Given the description of an element on the screen output the (x, y) to click on. 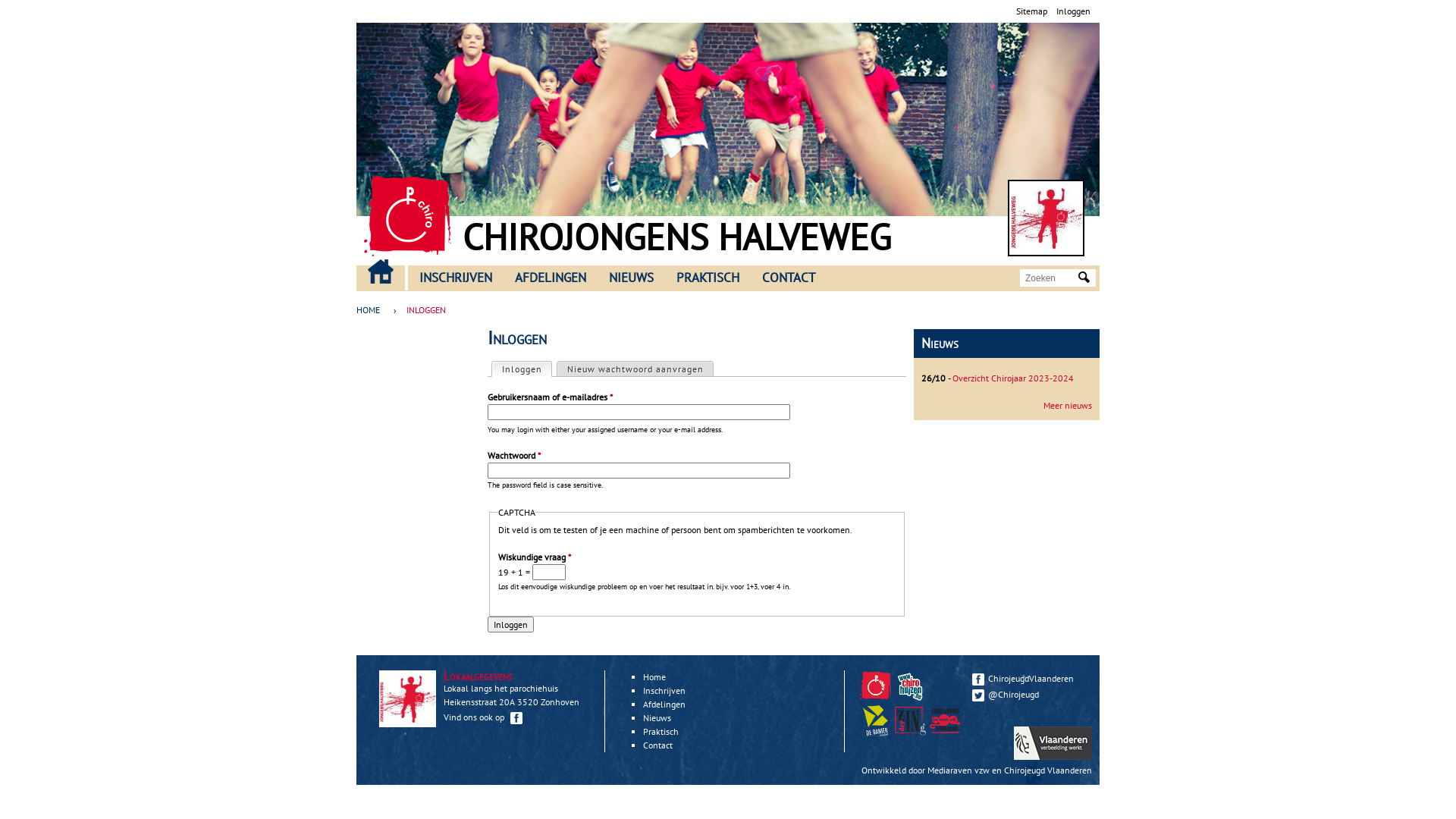
Contact Element type: text (657, 744)
Home Element type: hover (1045, 217)
Meer nieuws Element type: text (1067, 405)
CONTACT Element type: text (788, 278)
De Banier Element type: hover (876, 732)
De Banier Element type: hover (875, 720)
CHIROJONGENS HALVEWEG Element type: text (676, 236)
Zindering Element type: hover (946, 732)
@Chirojeugd Element type: text (1028, 694)
Chirojeugd Vlaanderen Element type: text (1048, 769)
NIEUWS Element type: text (631, 278)
ChirojeugdVlaanderen Element type: text (1028, 678)
Nieuw wachtwoord aanvragen Element type: text (634, 368)
Home Element type: hover (407, 215)
HOME Element type: text (371, 309)
Home Element type: text (654, 676)
Chirohuizen Element type: hover (911, 697)
HOME Element type: text (380, 271)
INSCHRIJVEN Element type: text (455, 278)
Twitter Element type: hover (978, 695)
Facebook Element type: hover (978, 679)
PRAKTISCH Element type: text (707, 278)
Nieuws Element type: text (657, 717)
Zindering Element type: hover (909, 720)
Afdelingen Element type: text (664, 703)
Praktisch Element type: text (660, 731)
Chirohuizen Element type: hover (909, 685)
Overzicht Chirojaar 2023-2024 Element type: text (1012, 377)
Chirojeugd Vlaanderen Element type: hover (875, 685)
Verbond Limburg Element type: hover (944, 720)
Inloggen Element type: text (1073, 10)
Inschrijven Element type: text (664, 690)
AFDELINGEN Element type: text (550, 278)
Facebook Element type: hover (516, 718)
Zindering Element type: hover (911, 732)
Geef de woorden op waarnaar u wilt zoeken. Element type: hover (1049, 277)
Sitemap Element type: text (1031, 10)
Chirojeugd Vlaanderen Element type: hover (876, 697)
Mediaraven vzw Element type: text (958, 769)
Inloggen
(actieve tabblad) Element type: text (521, 368)
Inloggen Element type: text (510, 624)
